Given the description of an element on the screen output the (x, y) to click on. 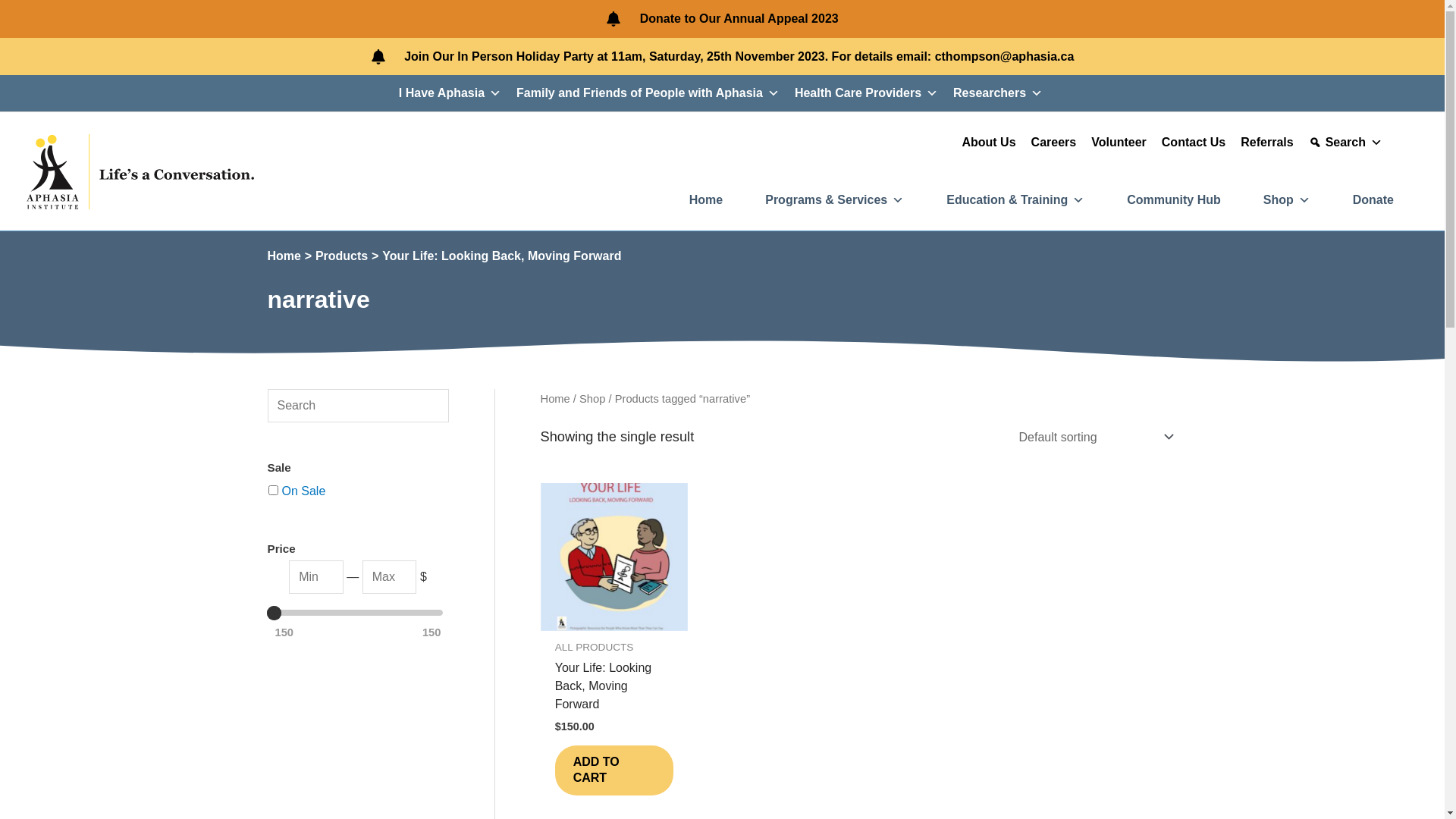
Family and Friends of People with Aphasia Element type: text (647, 93)
Contact Us Element type: text (1193, 142)
I Have Aphasia Element type: text (449, 93)
Home Element type: text (705, 200)
Careers Element type: text (1053, 142)
Health Care Providers Element type: text (866, 93)
Programs & Services Element type: text (834, 200)
Donate Element type: text (1373, 200)
Home Element type: text (283, 255)
Search Element type: text (1345, 142)
On Sale Element type: text (304, 490)
Shop Element type: text (592, 398)
Education & Training Element type: text (1015, 200)
Shop Element type: text (1286, 200)
Your Life: Looking Back, Moving Forward Element type: text (614, 688)
Your Life: Looking Back, Moving Forward Element type: text (501, 255)
About Us Element type: text (988, 142)
Home Element type: text (554, 398)
ADD TO CART Element type: text (614, 770)
Researchers Element type: text (997, 93)
Referrals Element type: text (1266, 142)
Donate to Our Annual Appeal 2023 Element type: text (739, 18)
Products Element type: text (341, 255)
Community Hub Element type: text (1173, 200)
Volunteer Element type: text (1118, 142)
cthompson@aphasia.ca Element type: text (1004, 56)
